Given the description of an element on the screen output the (x, y) to click on. 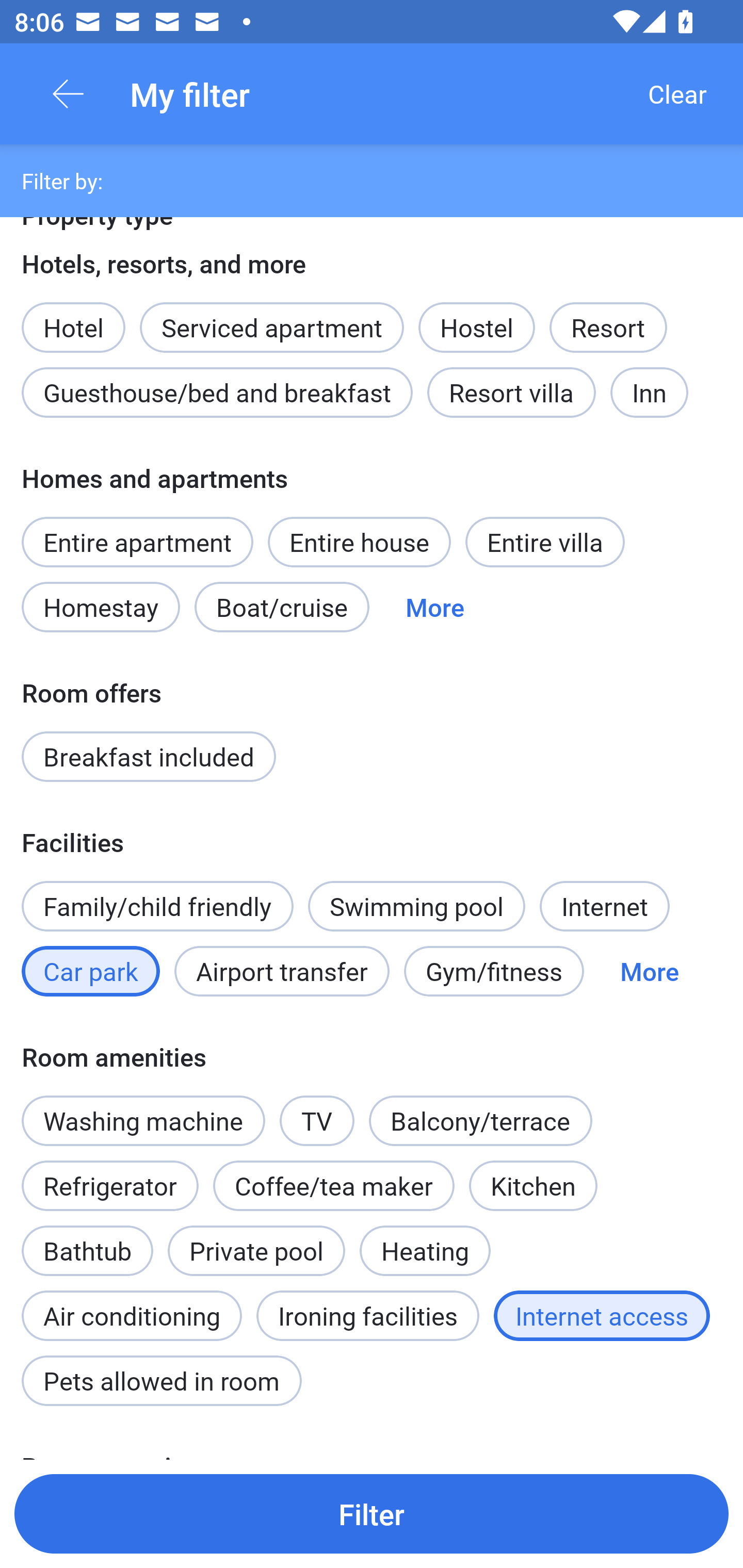
Clear (676, 93)
Hotel (73, 316)
Serviced apartment (271, 316)
Hostel (476, 327)
Resort (608, 327)
Guesthouse/bed and breakfast (217, 392)
Resort villa (511, 392)
Inn (649, 392)
Entire apartment (137, 541)
Entire house (359, 541)
Entire villa (544, 541)
Homestay (100, 607)
Boat/cruise (281, 607)
More (434, 607)
Breakfast included (148, 756)
Family/child friendly (157, 906)
Swimming pool (416, 906)
Internet (604, 906)
Airport transfer (281, 971)
Gym/fitness (493, 971)
More (649, 971)
Washing machine (143, 1120)
TV (317, 1110)
Balcony/terrace (480, 1120)
Refrigerator (109, 1186)
Coffee/tea maker (333, 1186)
Kitchen (532, 1186)
Bathtub (87, 1240)
Private pool (256, 1250)
Heating (424, 1250)
Air conditioning (131, 1305)
Ironing facilities (367, 1316)
Pets allowed in room (161, 1380)
Filter (371, 1513)
